Given the description of an element on the screen output the (x, y) to click on. 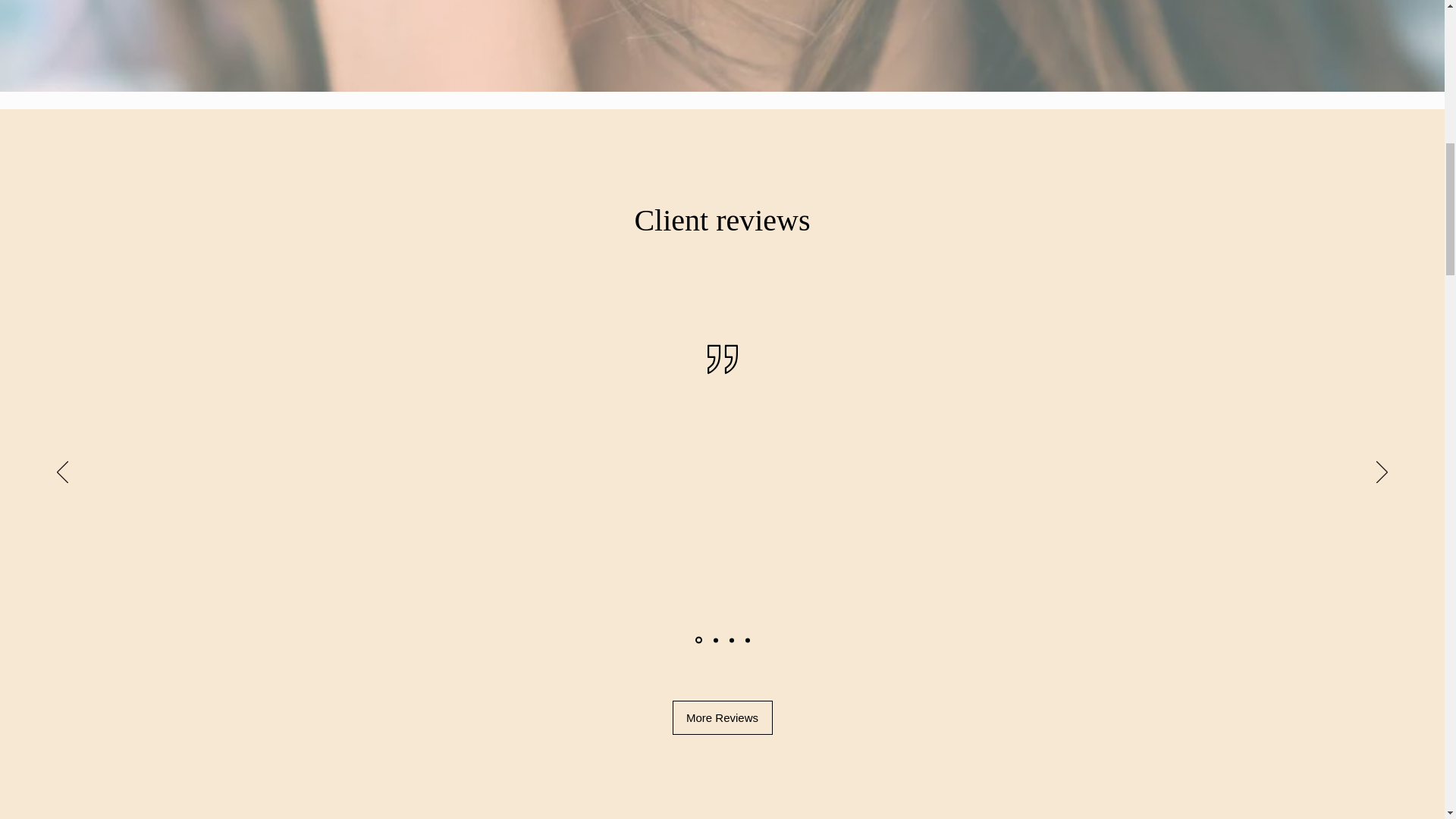
More Reviews (721, 717)
